Given the description of an element on the screen output the (x, y) to click on. 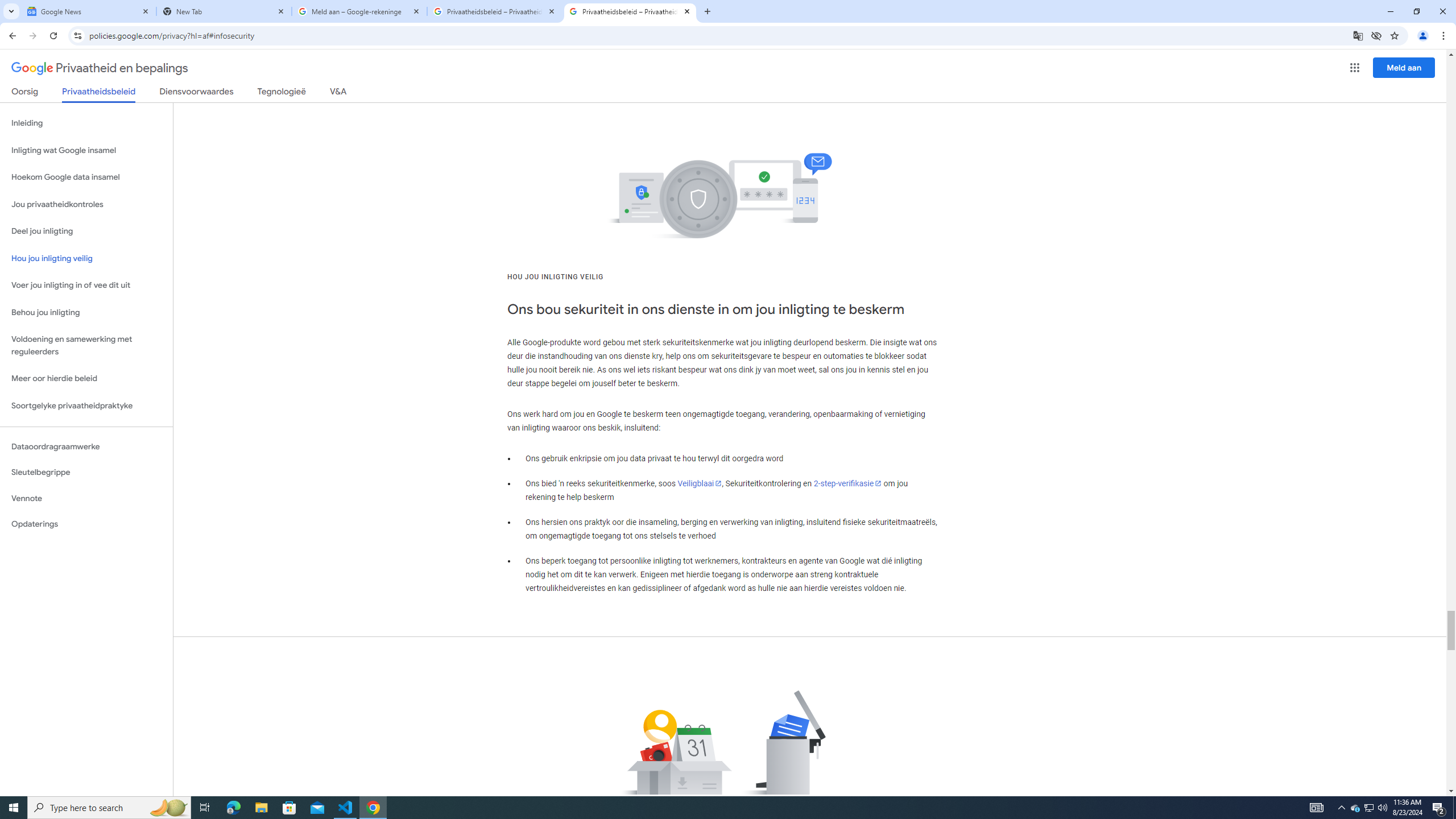
Meer oor hierdie beleid (86, 379)
Hou jou inligting veilig (86, 258)
Google-programme (1355, 67)
V&A (337, 93)
Jou privaatheidkontroles (86, 204)
Meld aan (1404, 67)
Translate this page (1358, 35)
Inleiding (86, 122)
New Tab (224, 11)
Dataoordragraamwerke (86, 446)
